Given the description of an element on the screen output the (x, y) to click on. 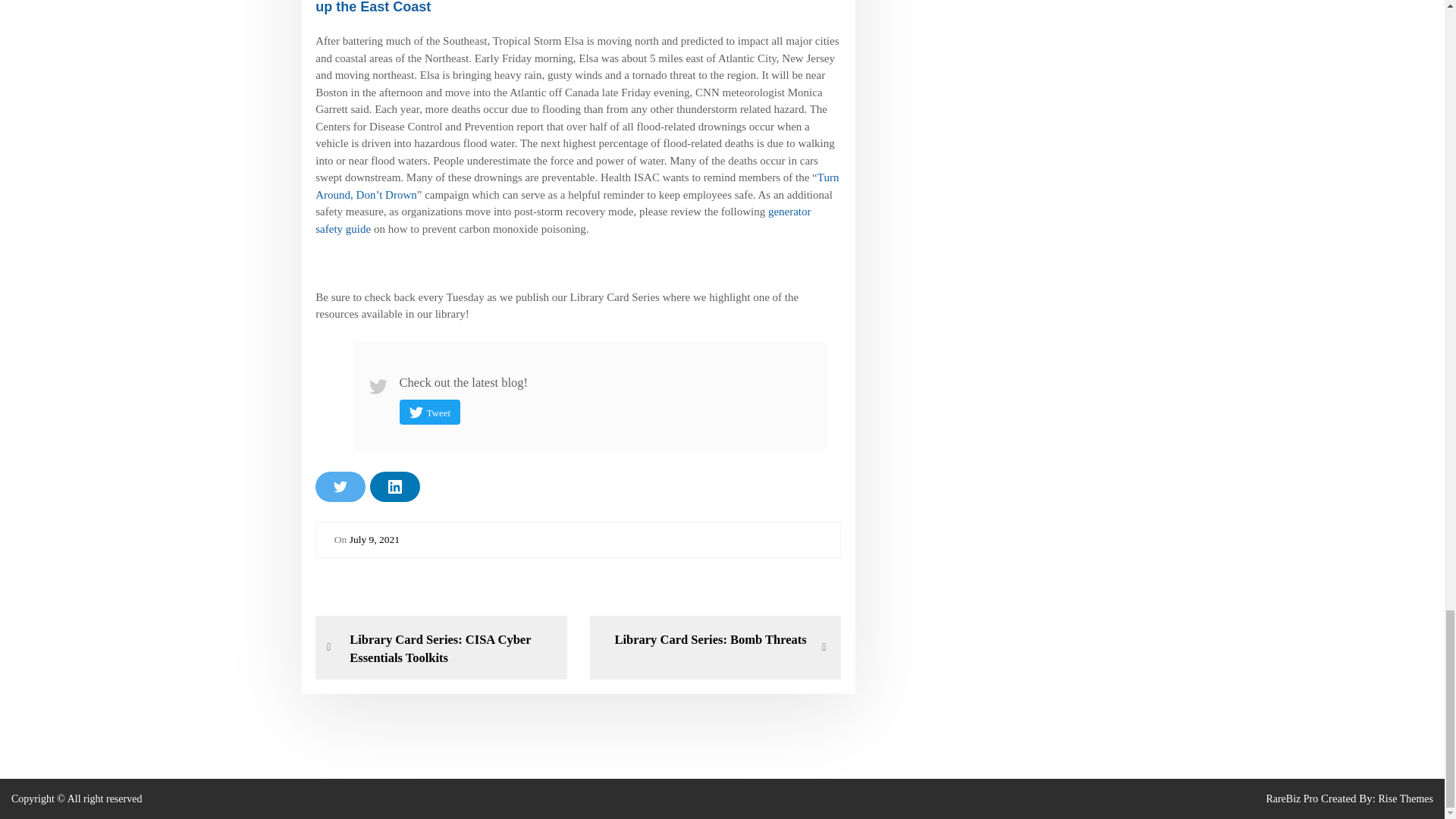
Rise Themes (1403, 798)
Tweet (429, 412)
generator safety guide (702, 640)
RareBiz Pro (562, 220)
Linkedin (1291, 798)
Twitter (394, 486)
July 9, 2021 (340, 486)
Linkedin (373, 539)
Twitter (394, 486)
